Given the description of an element on the screen output the (x, y) to click on. 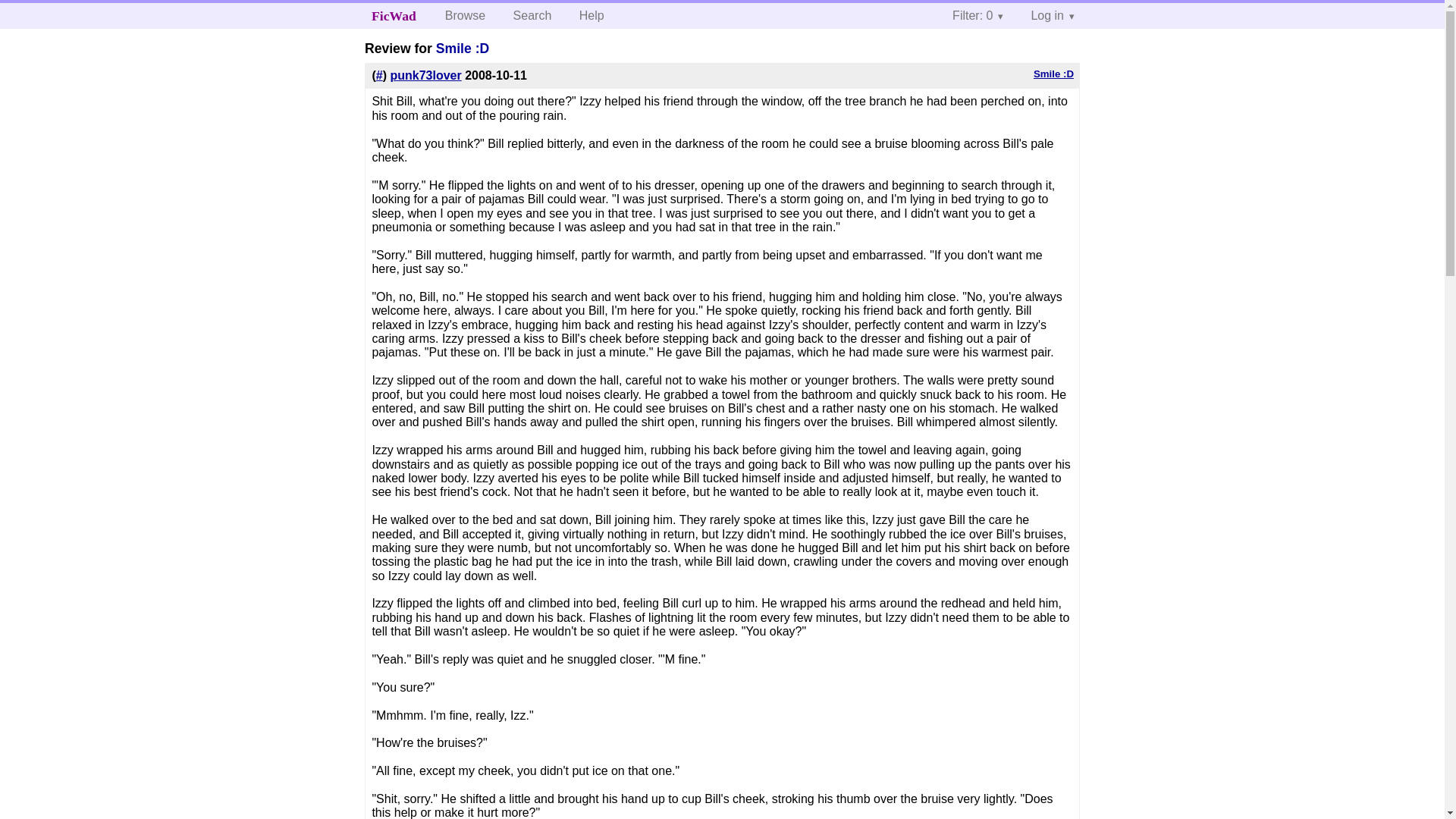
Smile :D (462, 48)
FicWad (393, 15)
Search (532, 15)
Log in (1051, 15)
fresh-picked original and fan fiction (393, 15)
Filter: 0 (977, 15)
Smile :D (1053, 73)
punk73lover (425, 74)
Browse (464, 15)
Help (591, 15)
2008-10-11 06:39:44 PM (495, 74)
